Given the description of an element on the screen output the (x, y) to click on. 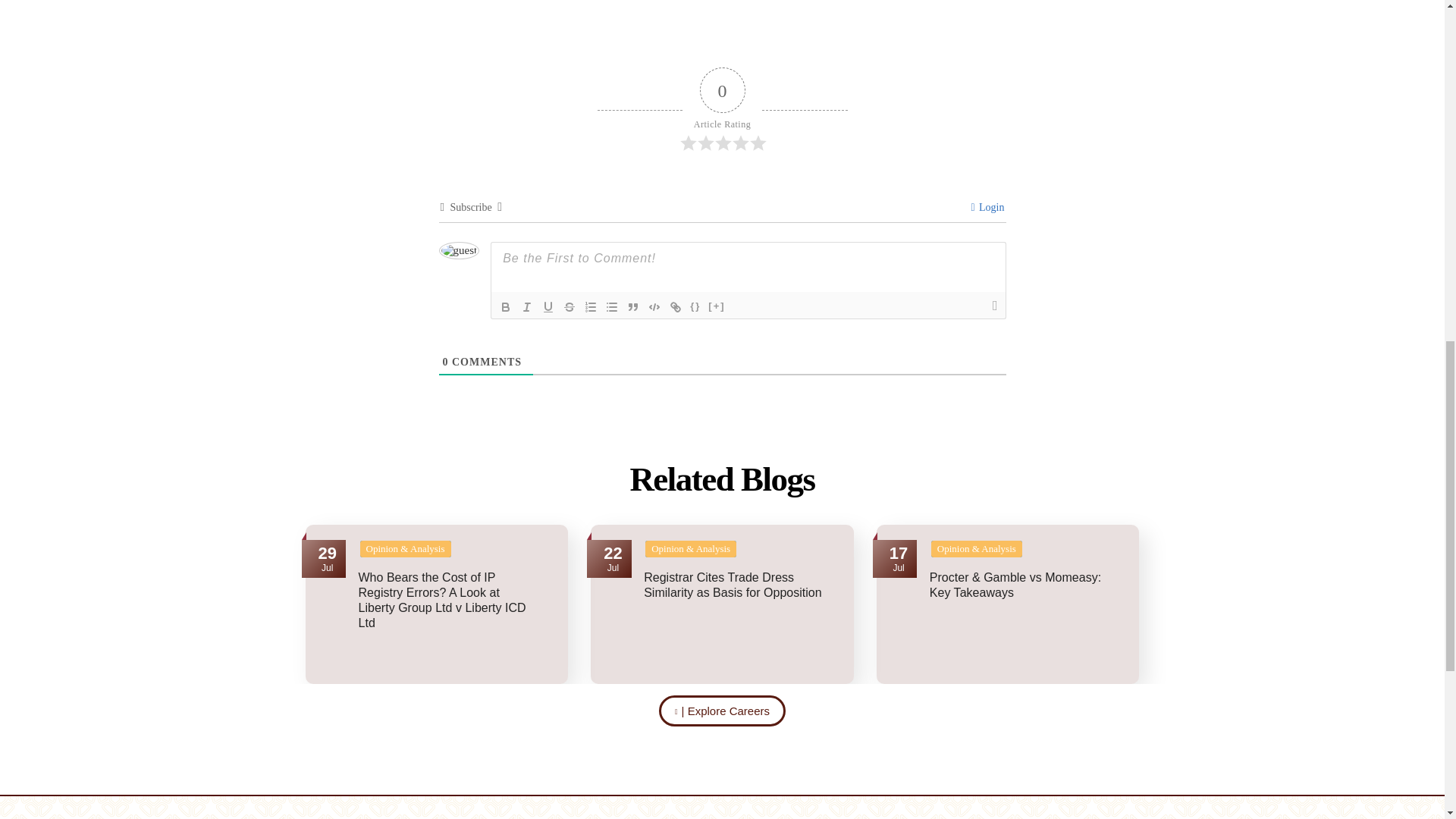
Source Code (694, 306)
Code Block (654, 306)
Italic (526, 306)
Unordered List (612, 306)
Spoiler (716, 306)
Link (675, 306)
Underline (548, 306)
Ordered List (590, 306)
Bold (505, 306)
Strike (569, 306)
Blockquote (633, 306)
